Given the description of an element on the screen output the (x, y) to click on. 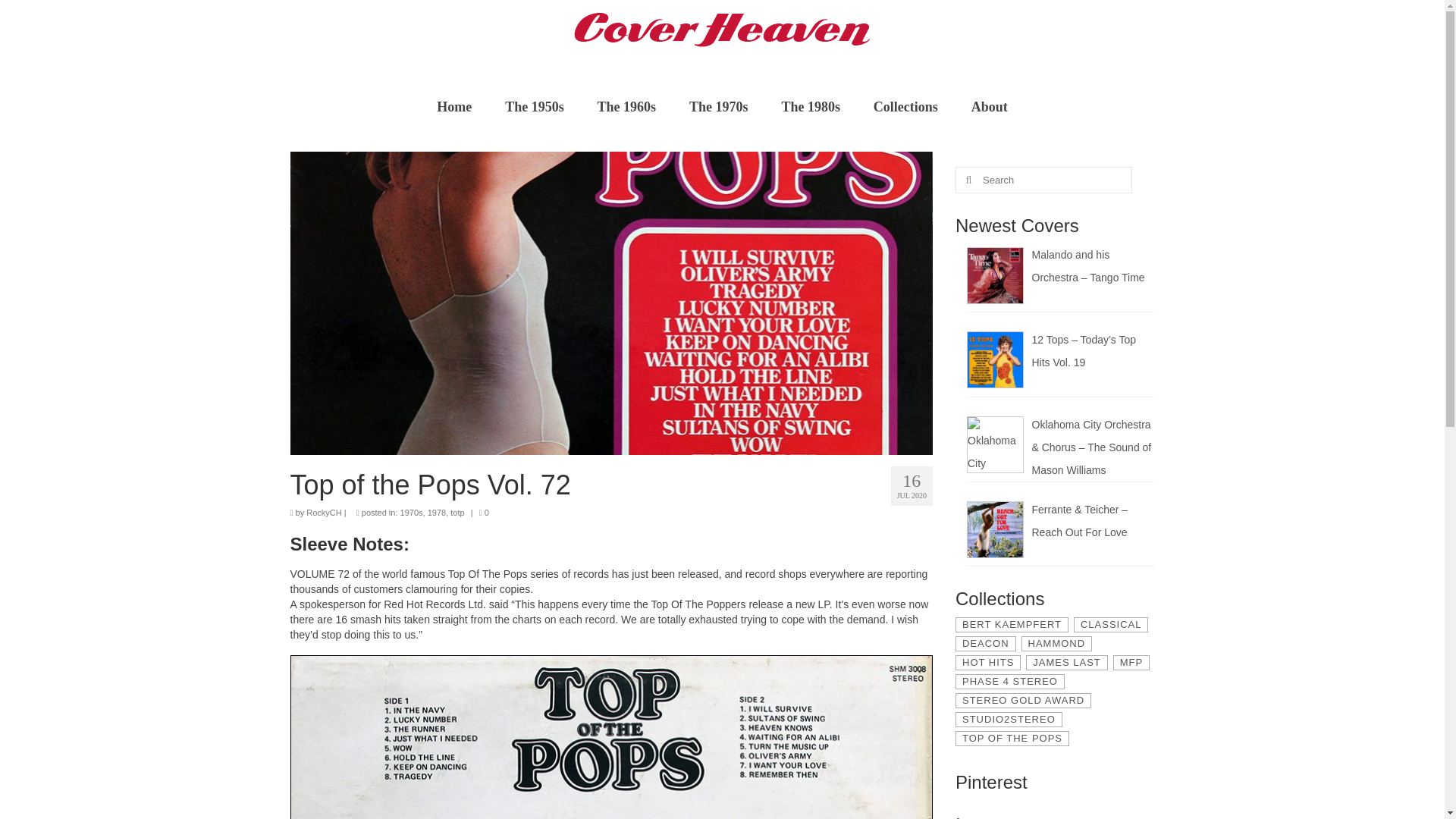
The 1970s (718, 106)
The 1960s (626, 106)
The 1980s (810, 106)
The 1950s (534, 106)
Home (454, 106)
